Given the description of an element on the screen output the (x, y) to click on. 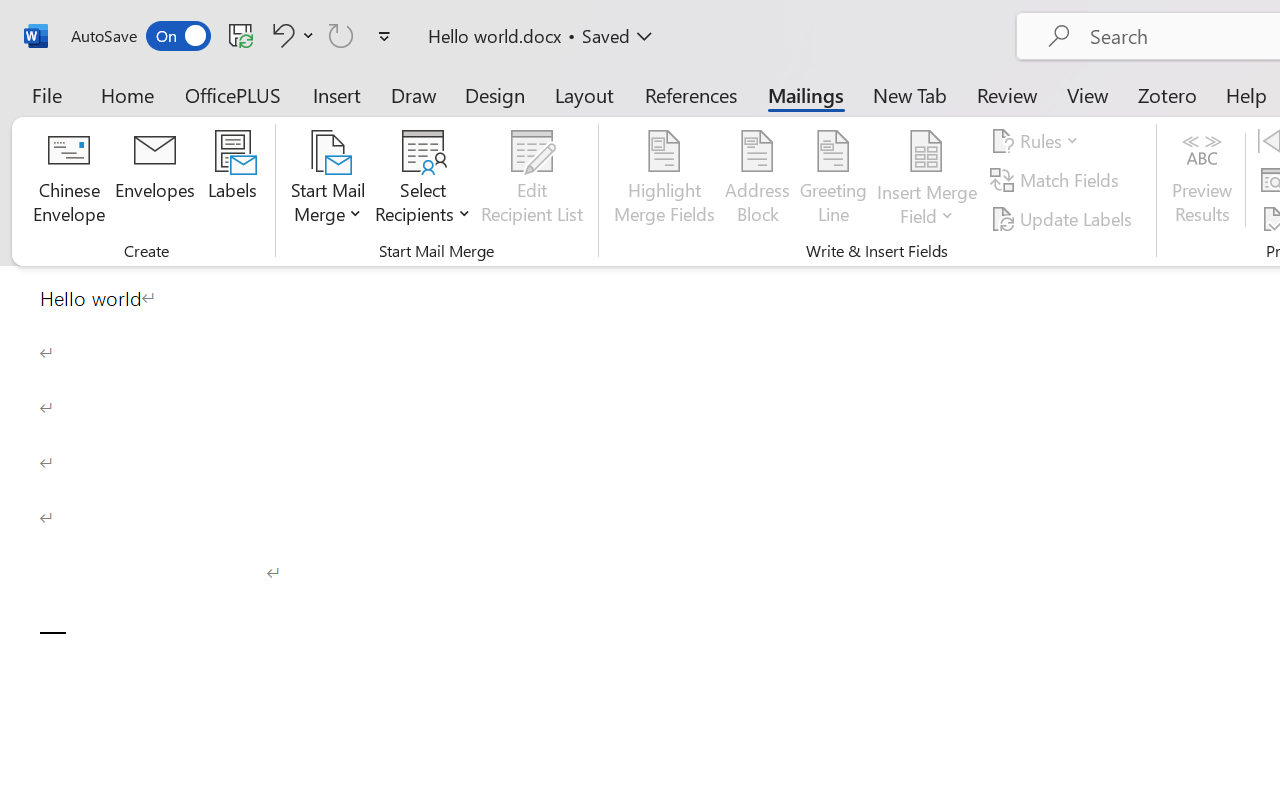
Undo Paragraph Formatting (280, 35)
Customize Quick Access Toolbar (384, 35)
Envelopes... (155, 179)
Quick Access Toolbar (233, 36)
Edit Recipient List... (532, 179)
Review (1007, 94)
Update Labels (1064, 218)
Design (495, 94)
Highlight Merge Fields (664, 179)
